Given the description of an element on the screen output the (x, y) to click on. 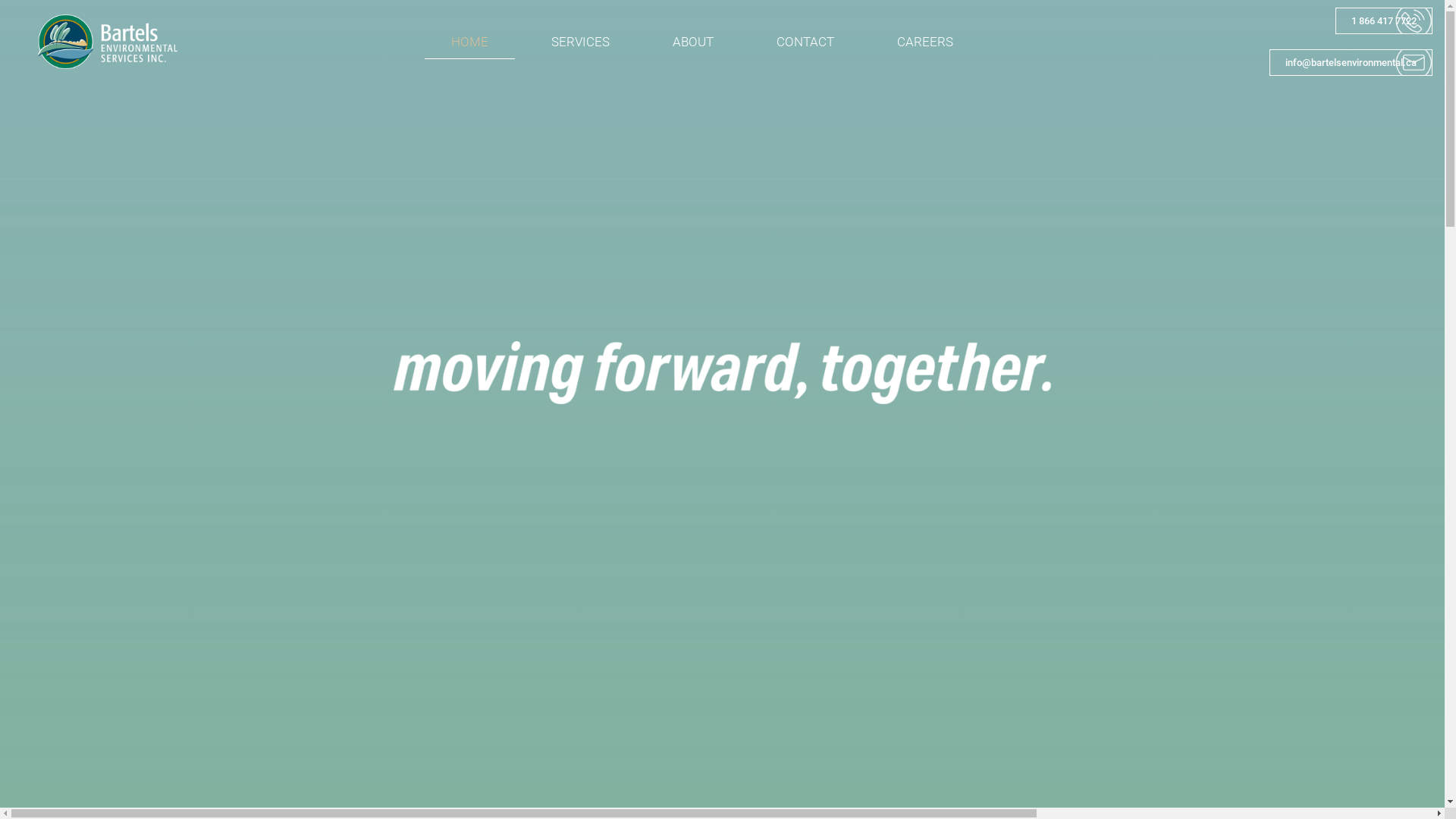
1 866 417 7722 Element type: text (1383, 20)
HOME Element type: text (469, 41)
SERVICES Element type: text (580, 41)
CAREERS Element type: text (924, 41)
ABOUT Element type: text (693, 41)
info@bartelsenvironmental.ca Element type: text (1350, 62)
CONTACT Element type: text (804, 41)
